Given the description of an element on the screen output the (x, y) to click on. 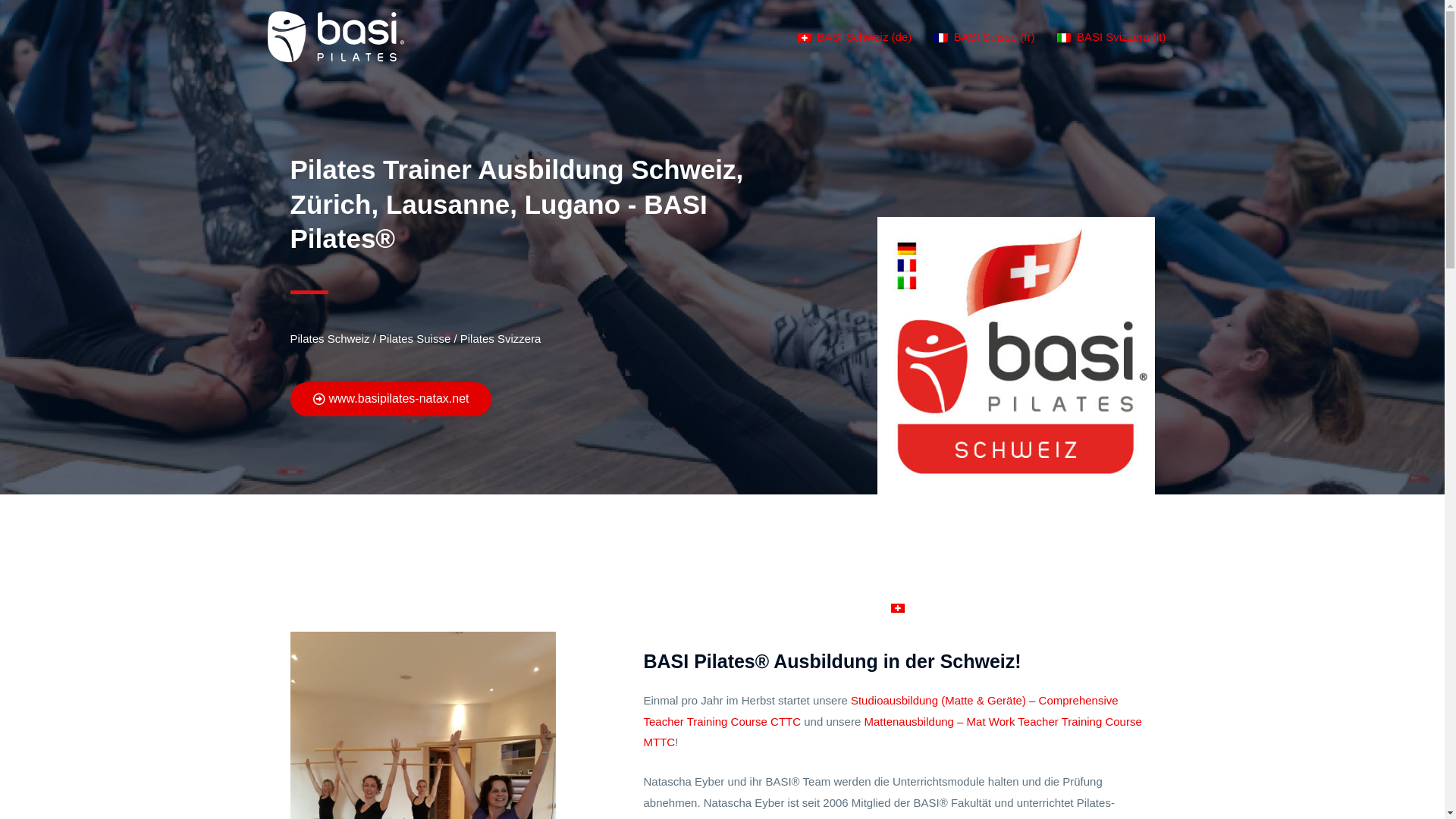
BASI Suisse (fr) Element type: text (983, 36)
basi_all_countries20203 Element type: hover (1015, 355)
BASI Svizzera (it) Element type: text (1110, 36)
www.basipilates-natax.net Element type: text (390, 399)
BASI Schweiz (de) Element type: text (854, 36)
